Given the description of an element on the screen output the (x, y) to click on. 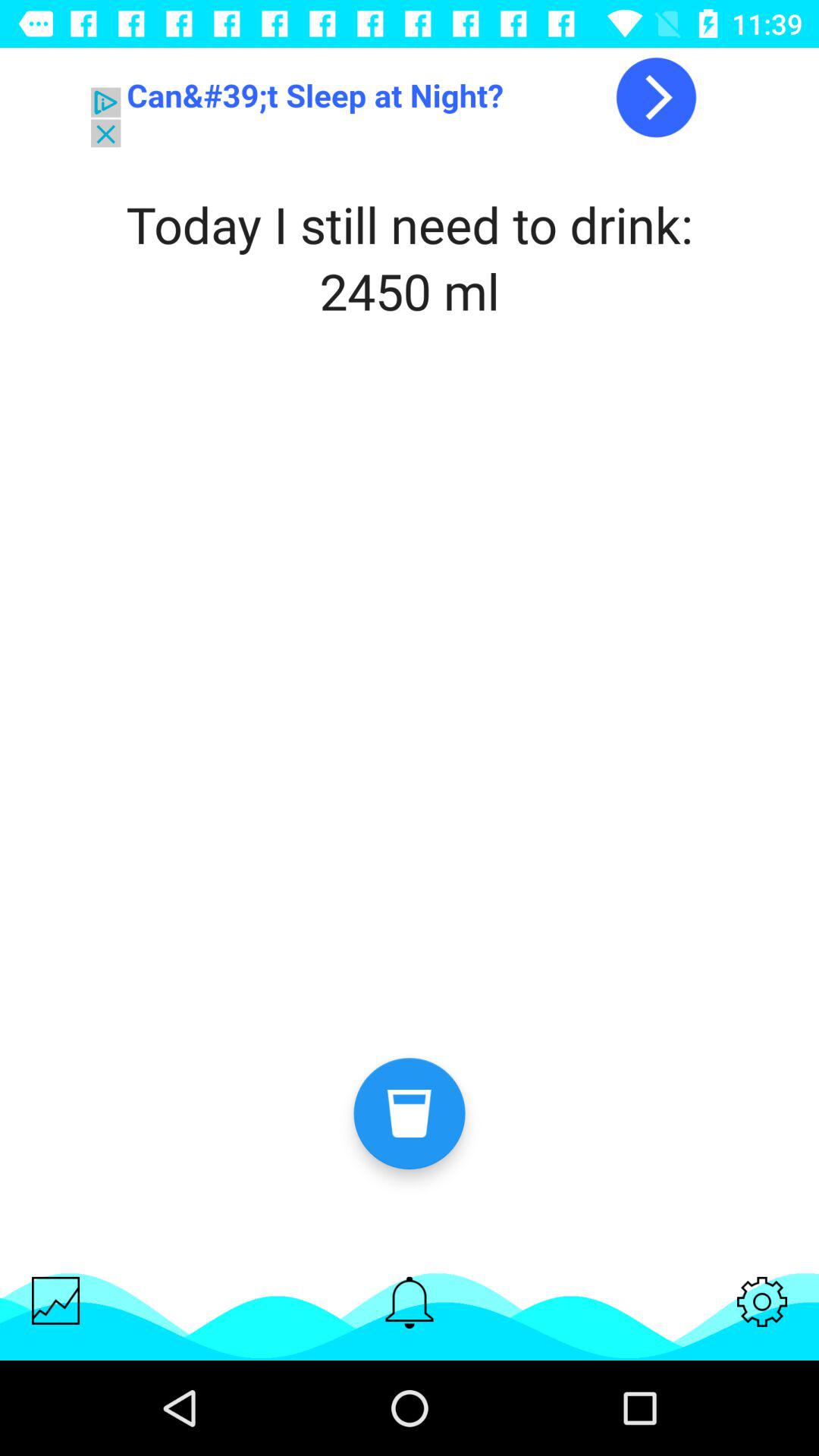
toggle sound (409, 1302)
